Given the description of an element on the screen output the (x, y) to click on. 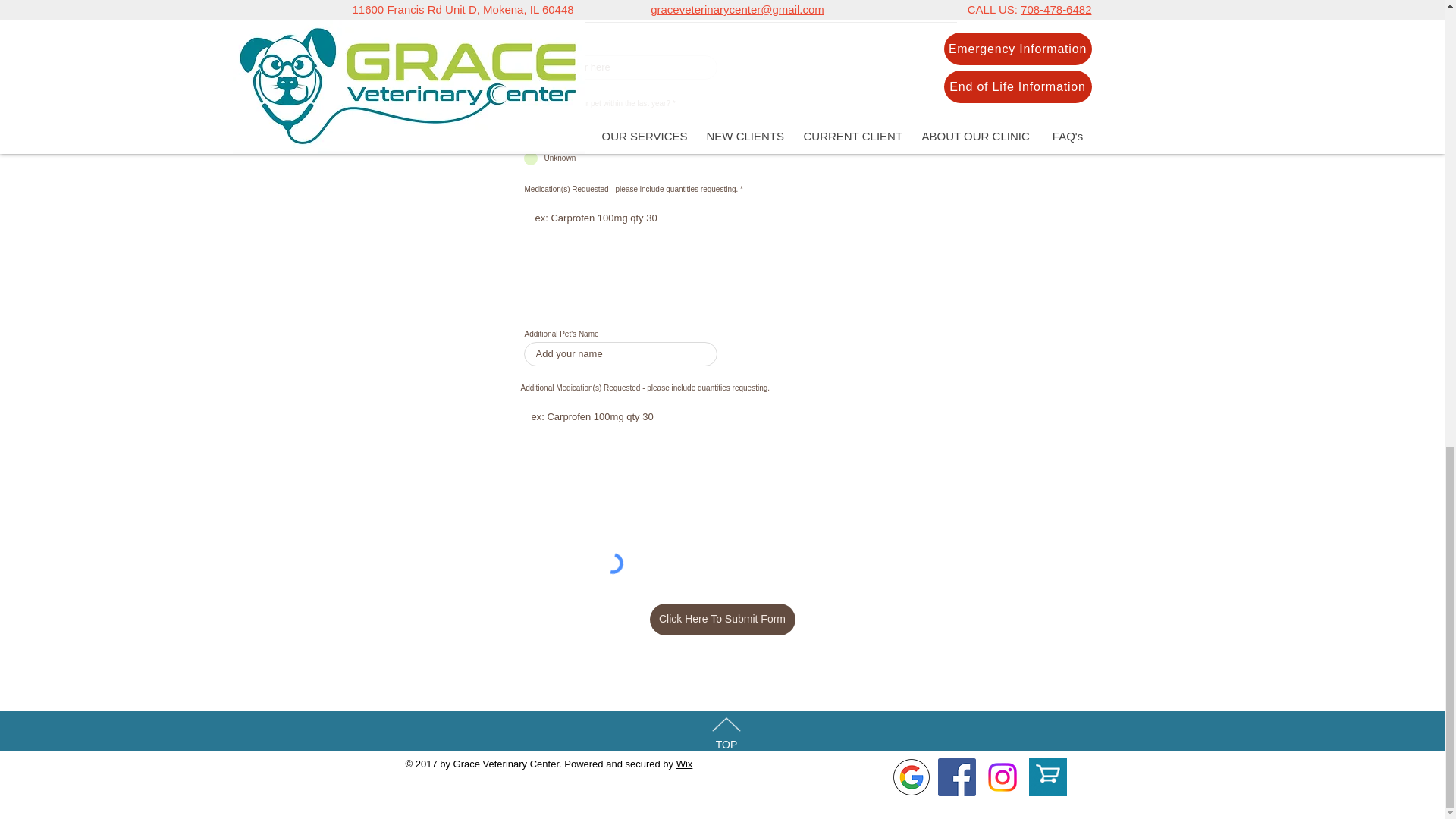
TOP (727, 744)
Click Here To Submit Form (721, 619)
Wix (685, 763)
